Given the description of an element on the screen output the (x, y) to click on. 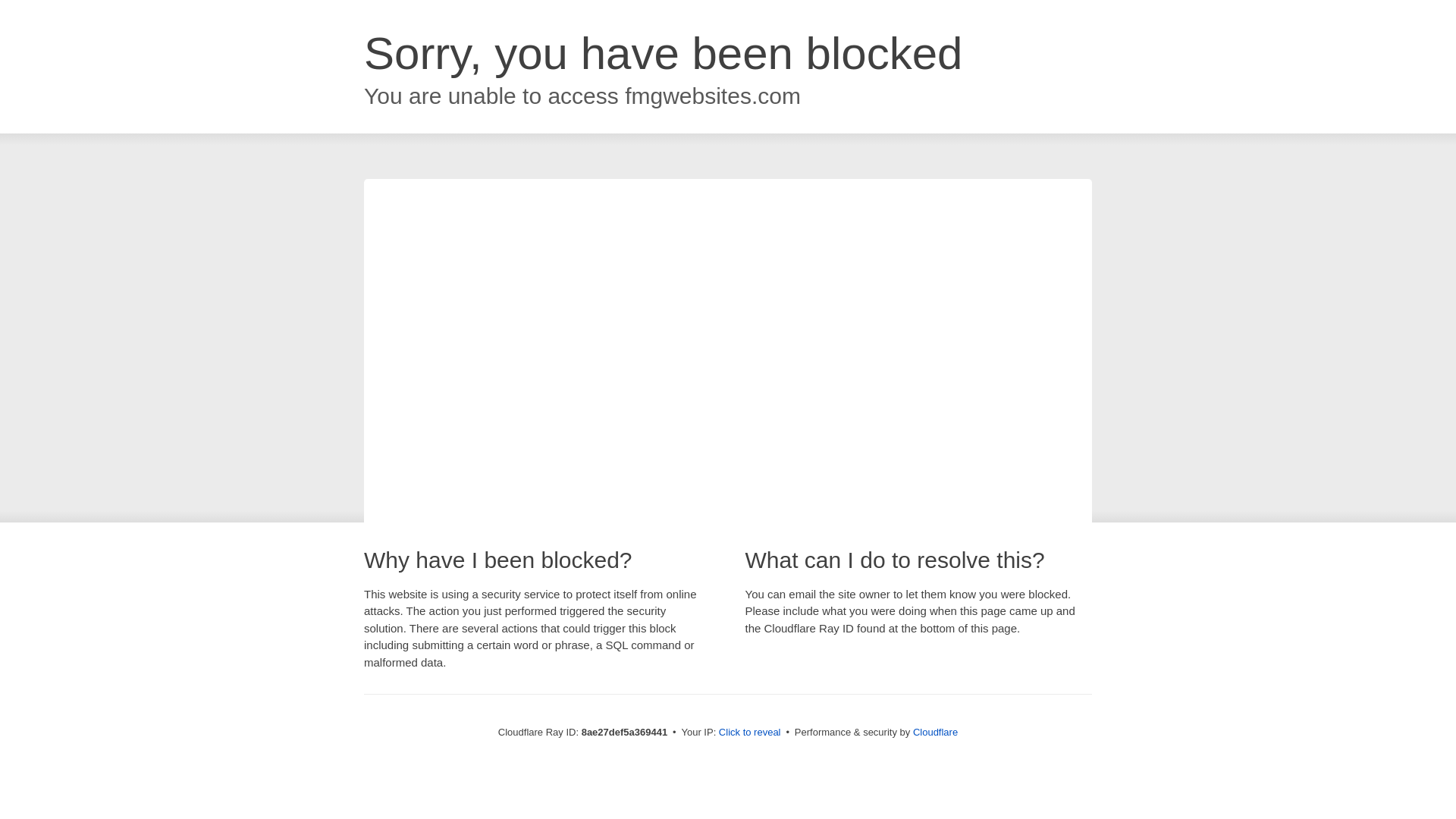
Cloudflare (935, 731)
Click to reveal (749, 732)
